Given the description of an element on the screen output the (x, y) to click on. 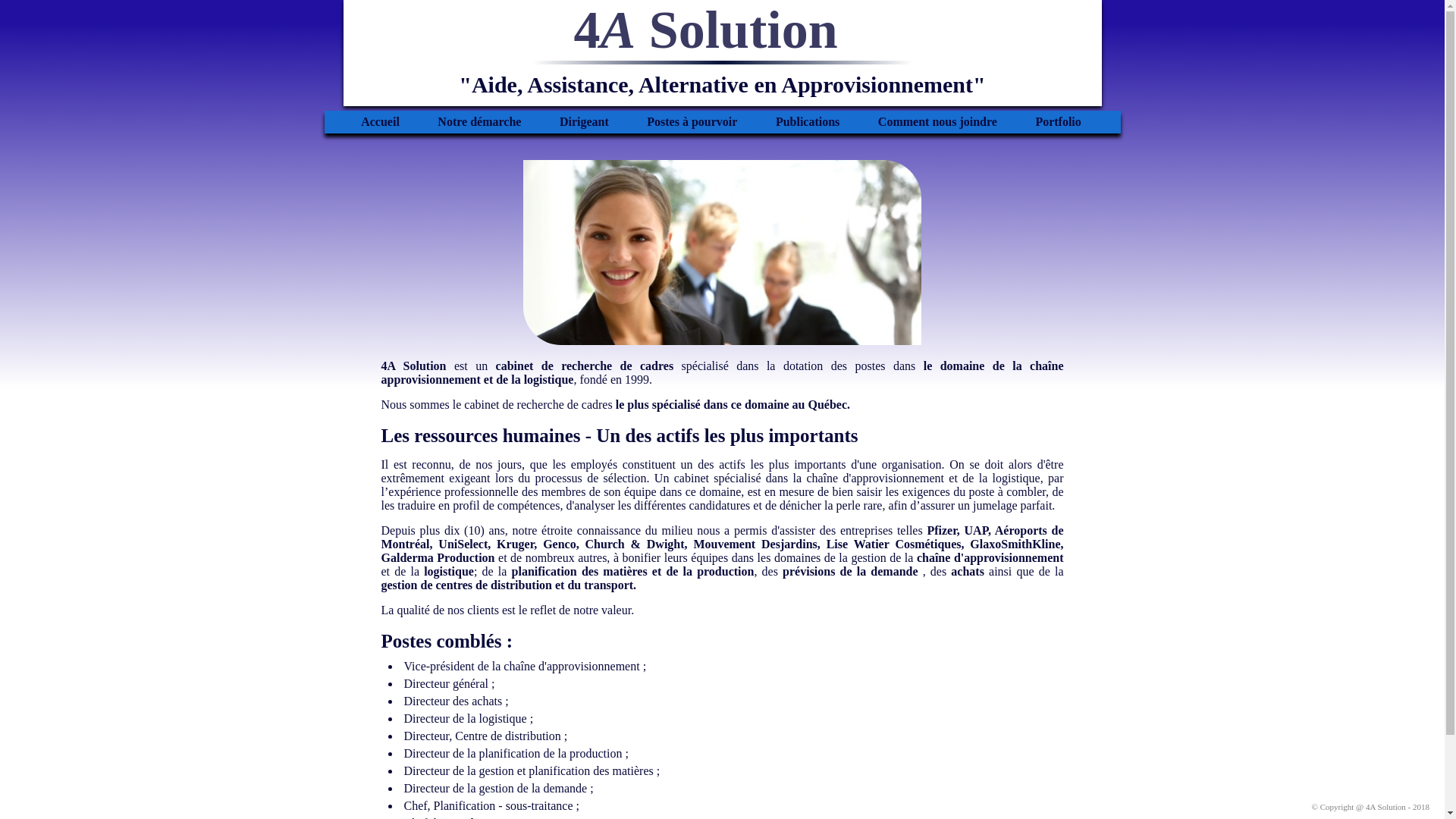
Dirigeant Element type: text (583, 121)
Comment nous joindre Element type: text (937, 121)
Portfolio Element type: text (1057, 121)
Publications Element type: text (807, 121)
Accueil Element type: text (380, 121)
